Given the description of an element on the screen output the (x, y) to click on. 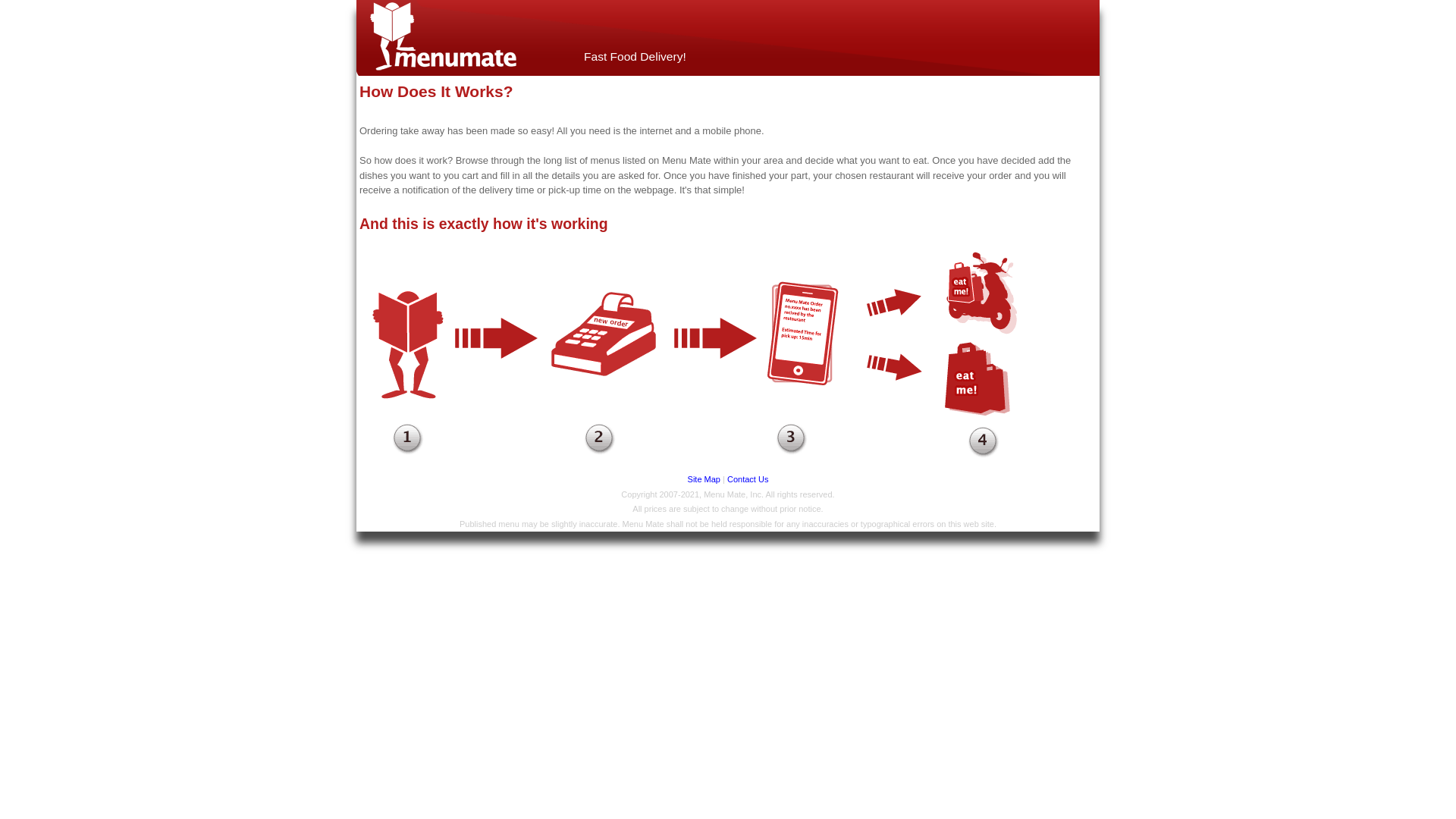
Site Map Element type: text (703, 478)
Contact Us Element type: text (747, 478)
